Given the description of an element on the screen output the (x, y) to click on. 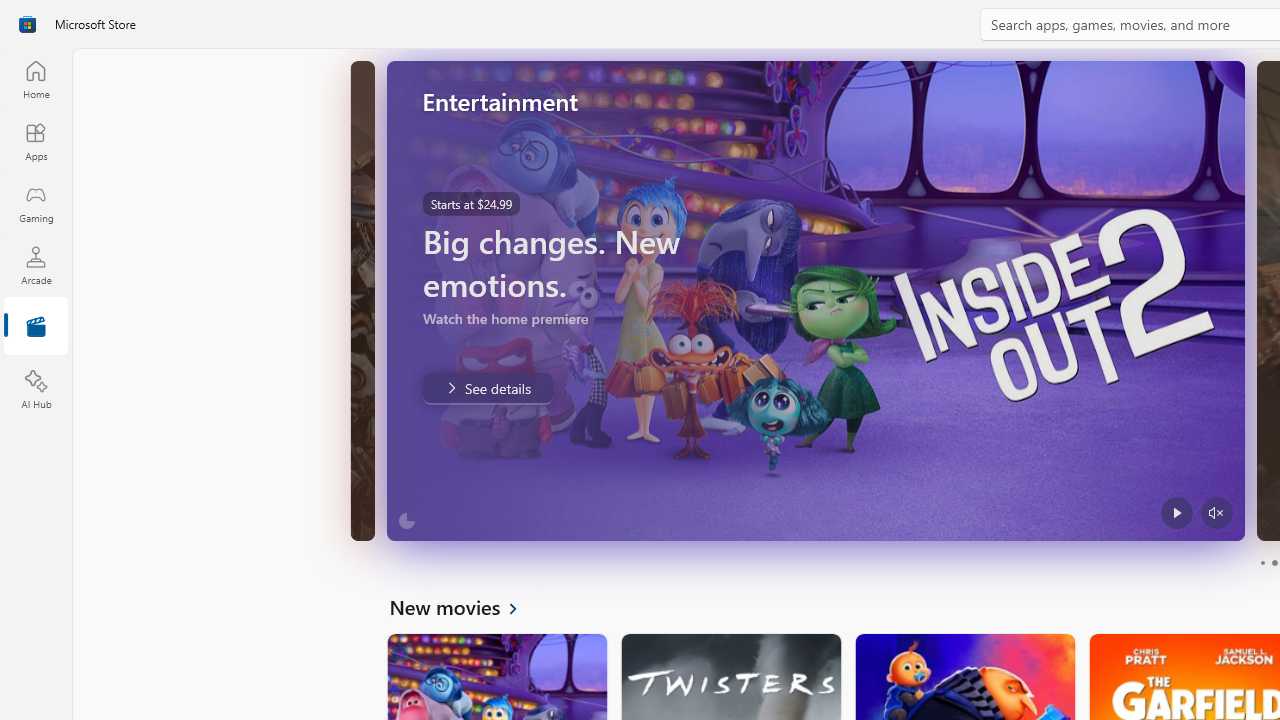
Play Trailer (1175, 512)
Unmute (1215, 512)
AutomationID: Image (815, 300)
Page 1 (1261, 562)
See all  New movies (464, 606)
Page 2 (1274, 562)
